Given the description of an element on the screen output the (x, y) to click on. 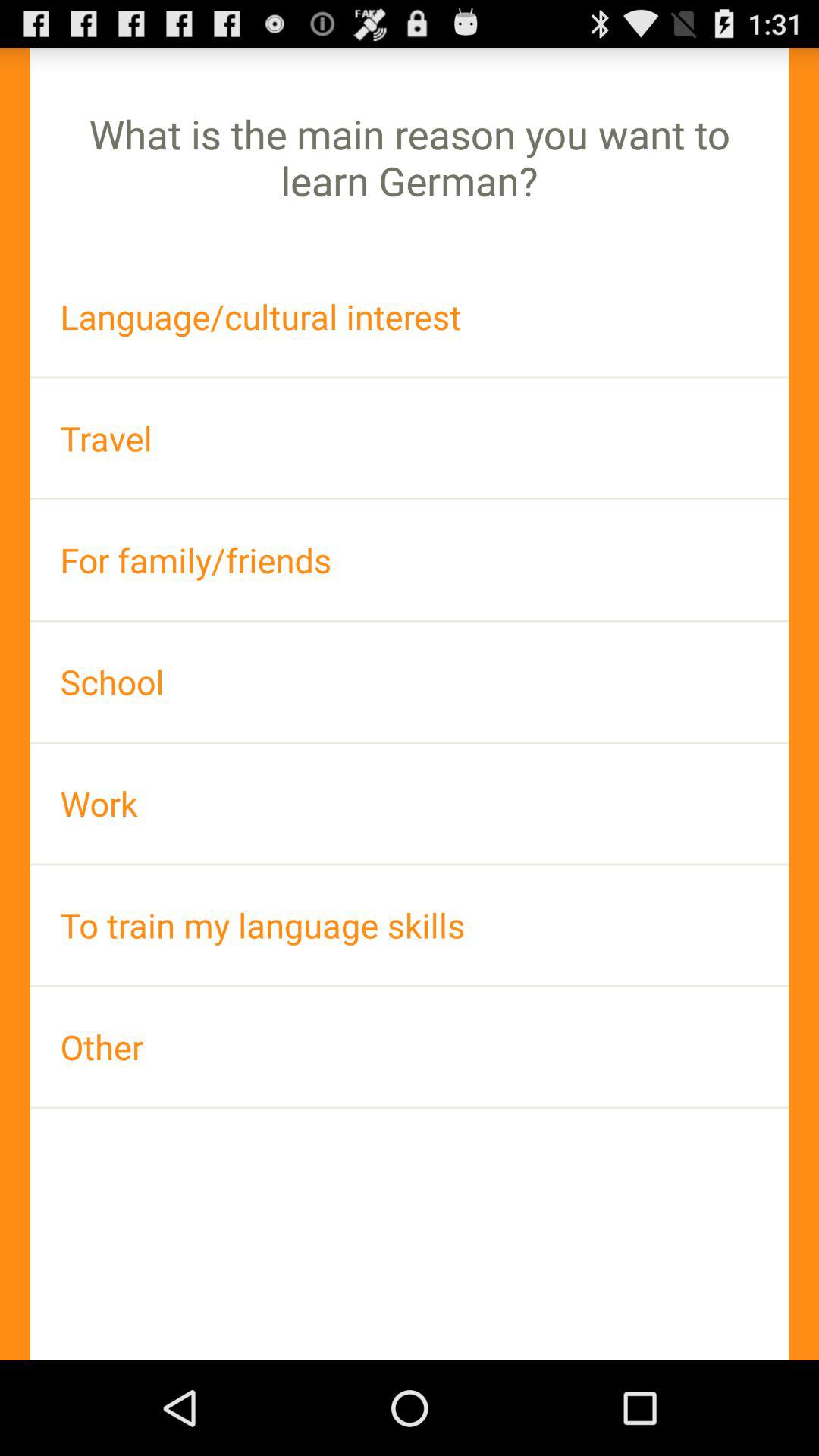
jump to the language/cultural interest app (409, 316)
